Given the description of an element on the screen output the (x, y) to click on. 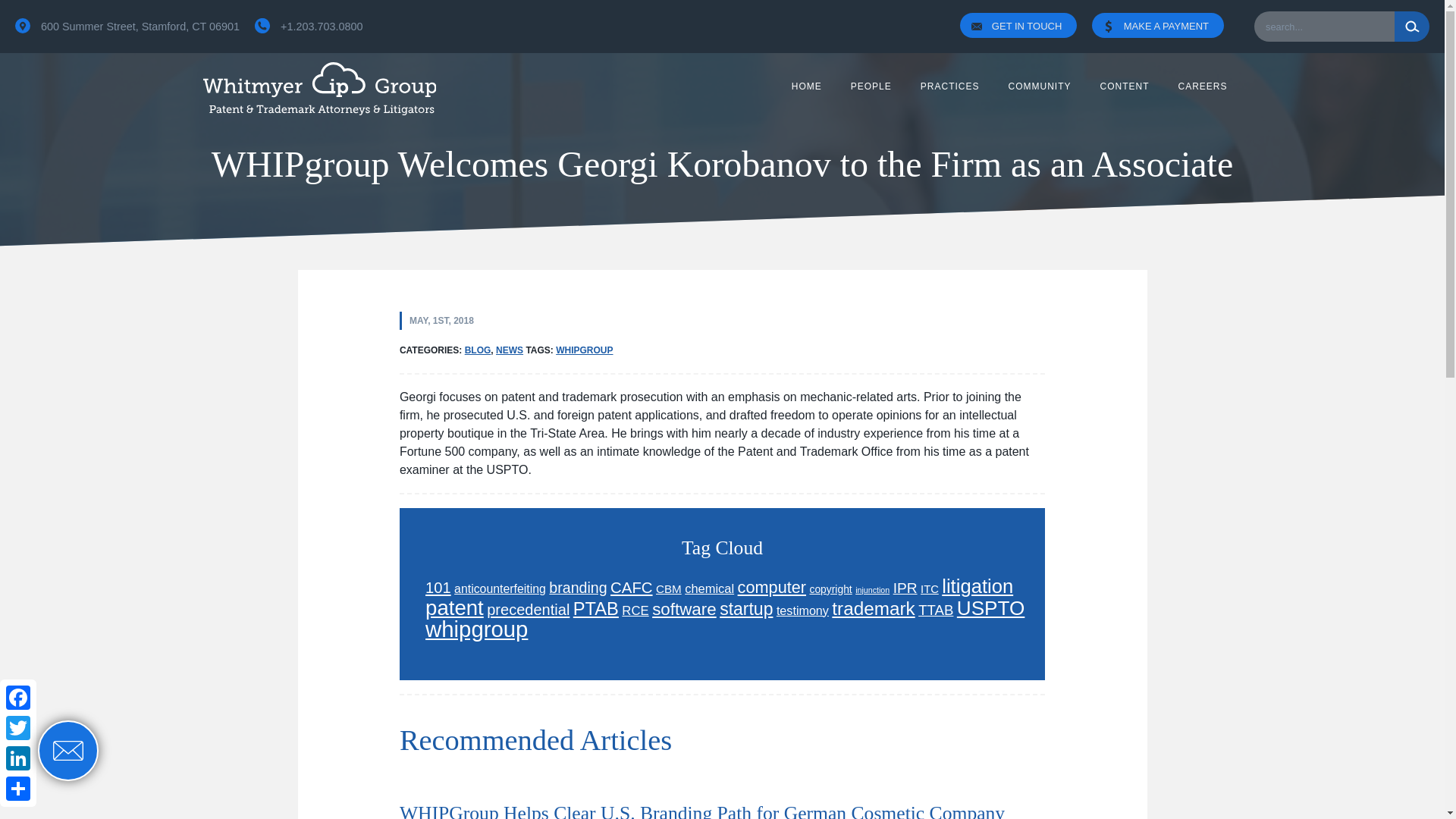
COMMUNITY (1039, 85)
PRACTICES (949, 85)
Google Map Link (22, 25)
MAKE A PAYMENT (1165, 26)
CONTENT (1123, 85)
PEOPLE (120, 25)
HOME (871, 85)
